Given the description of an element on the screen output the (x, y) to click on. 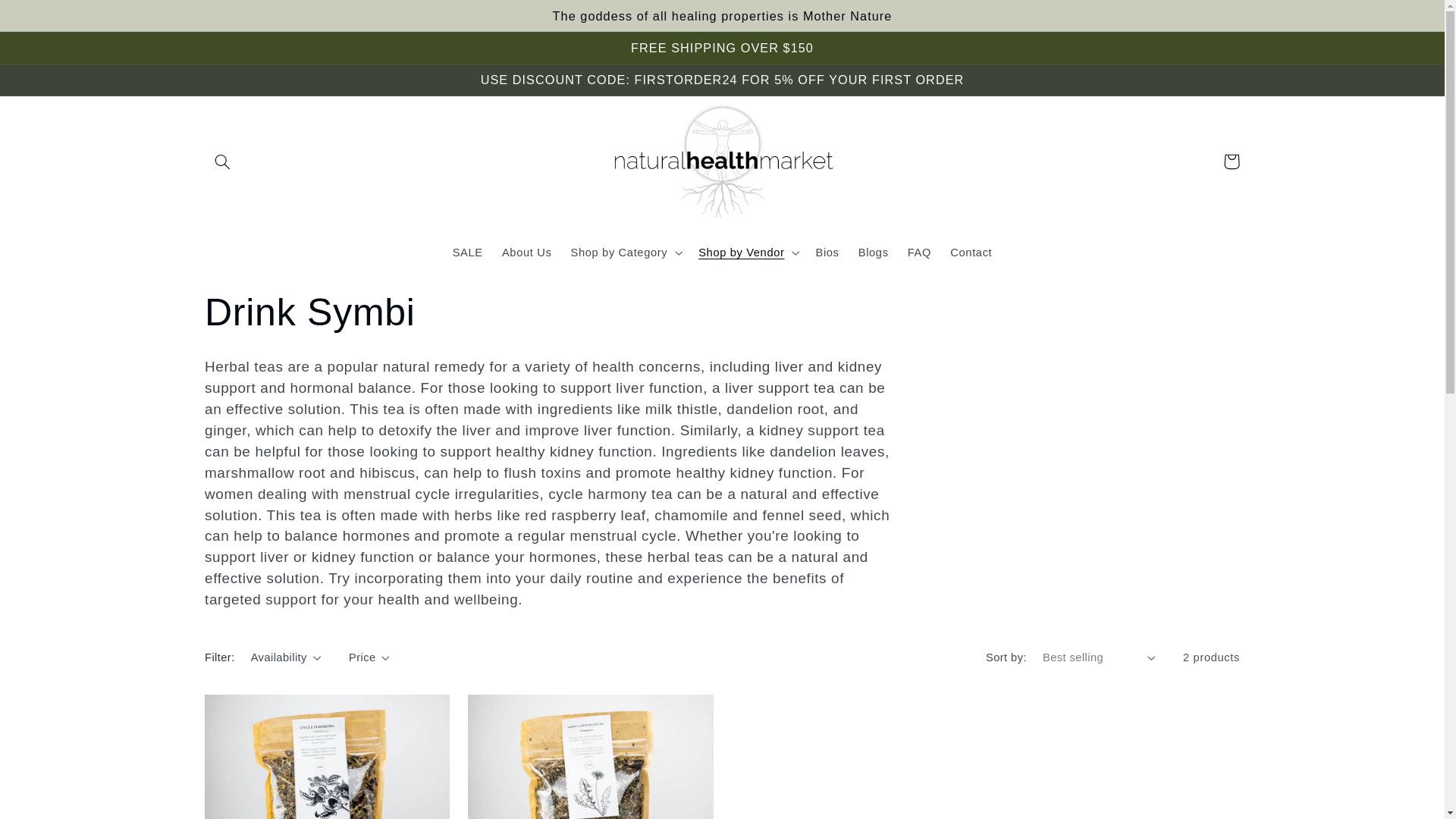
Skip to content (48, 18)
SALE (467, 252)
About Us (526, 252)
